Given the description of an element on the screen output the (x, y) to click on. 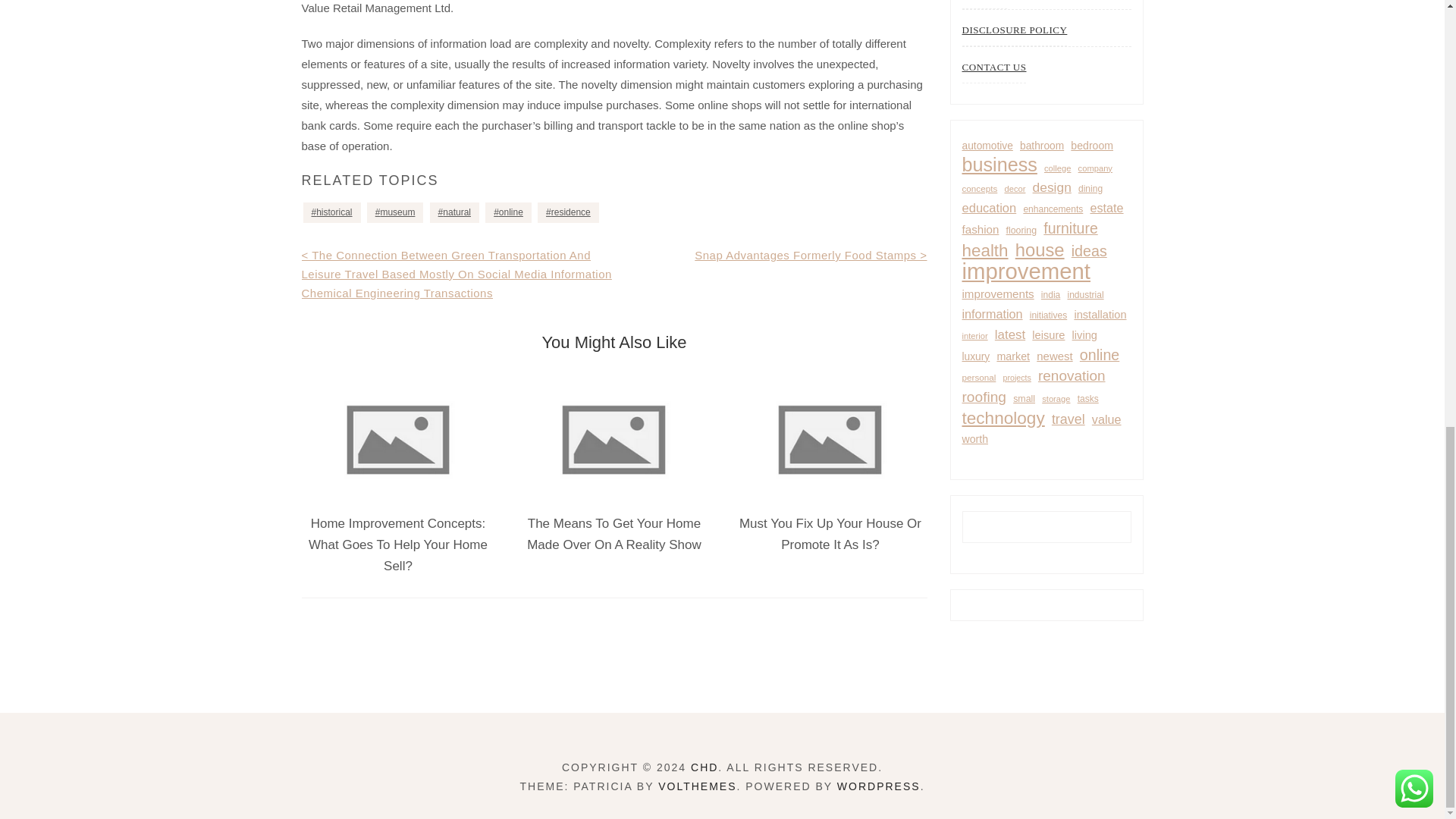
museum (394, 212)
Must You Fix Up Your House Or Promote It As Is? (830, 534)
online (507, 212)
historical (331, 212)
residence (567, 212)
natural (454, 212)
SITEMAP (983, 4)
VolThemes (697, 786)
CHD (703, 766)
The Means To Get Your Home Made Over On A Reality Show (614, 534)
Home Improvement Concepts: What Goes To Help Your Home Sell? (397, 544)
DISCLOSURE POLICY (1013, 29)
WordPress (878, 786)
